Given the description of an element on the screen output the (x, y) to click on. 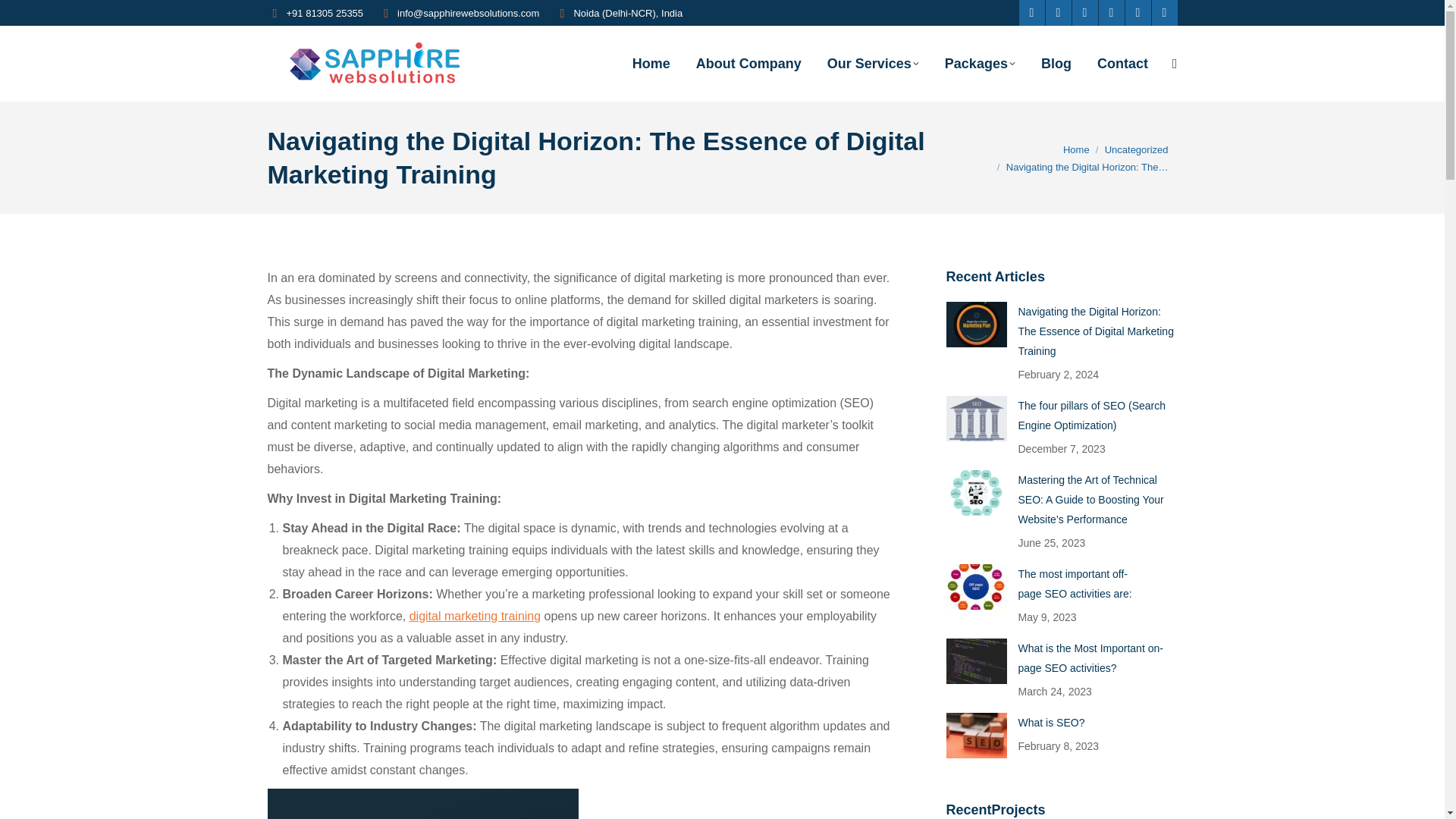
Pinterest page opens in new window (1084, 12)
Twitter page opens in new window (1057, 12)
YouTube page opens in new window (1110, 12)
Pinterest page opens in new window (1084, 12)
Our Services (873, 63)
Skype page opens in new window (1163, 12)
Go! (24, 15)
Skype page opens in new window (1163, 12)
Instagram page opens in new window (1138, 12)
YouTube page opens in new window (1110, 12)
Home (651, 63)
Twitter page opens in new window (1057, 12)
Instagram page opens in new window (1138, 12)
Facebook page opens in new window (1032, 12)
Packages (980, 63)
